Given the description of an element on the screen output the (x, y) to click on. 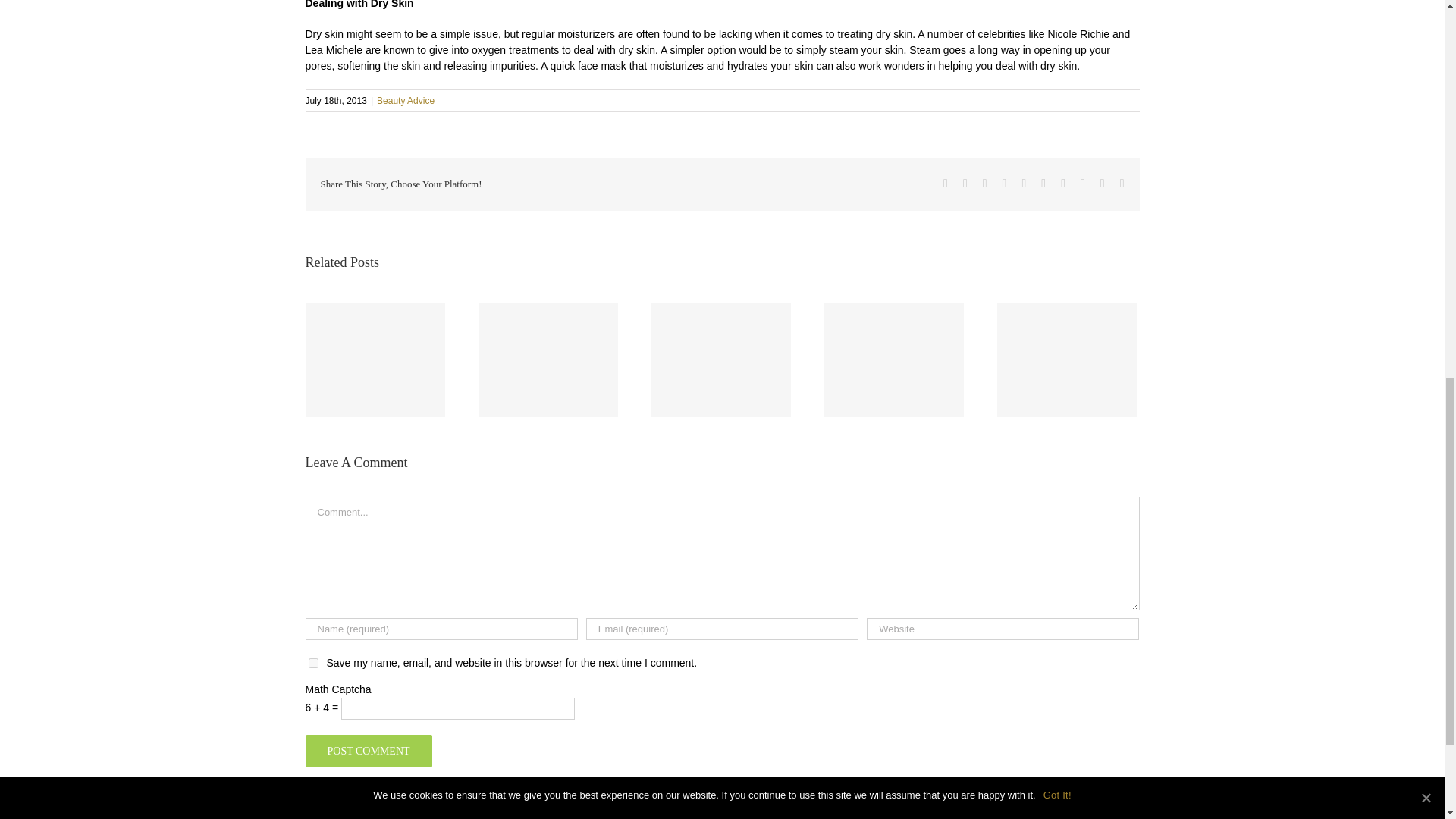
yes (312, 663)
Post Comment (367, 749)
Beauty Advice (405, 100)
